Given the description of an element on the screen output the (x, y) to click on. 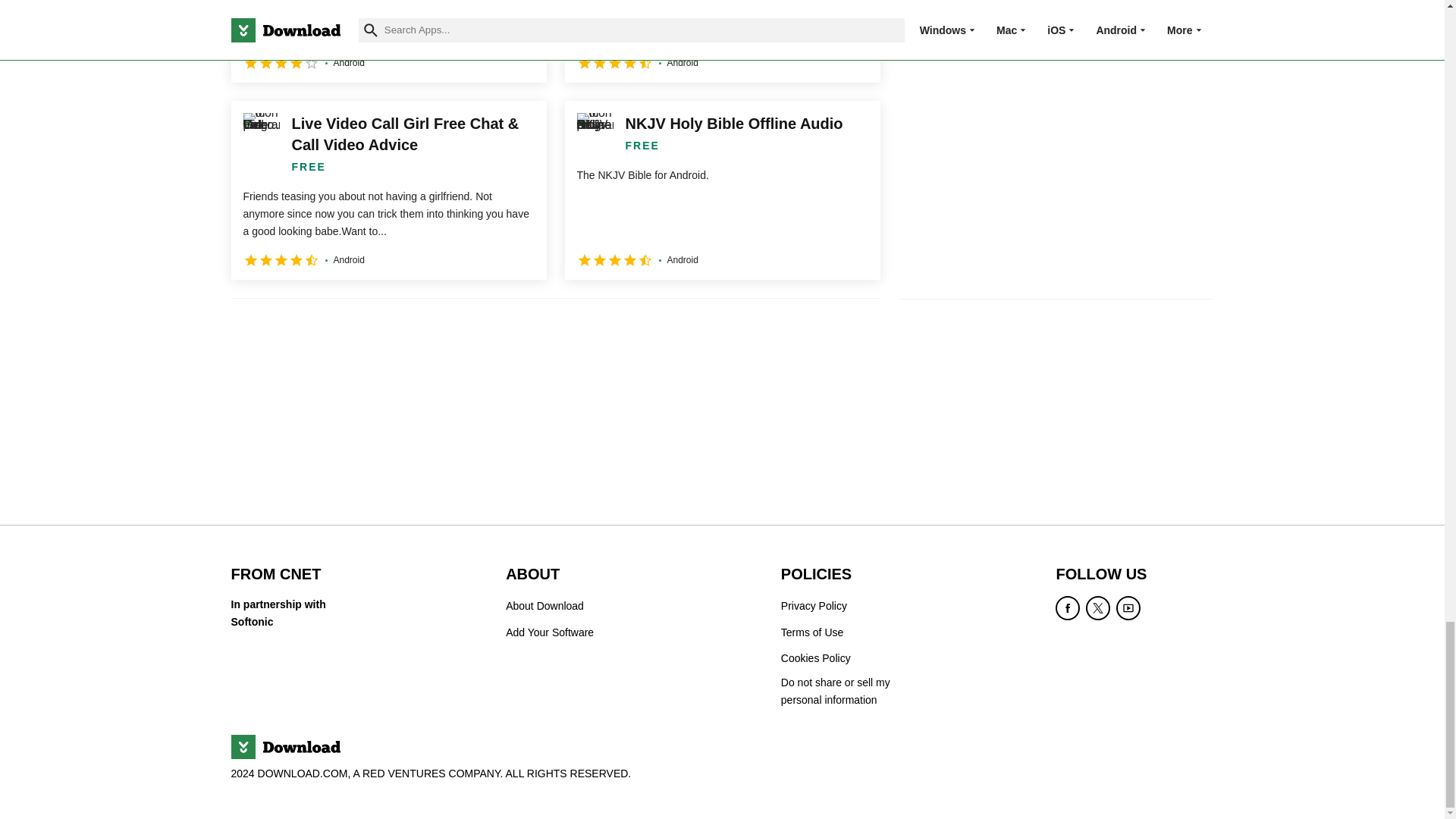
Duolingo Math (388, 40)
NKJV Holy Bible Offline Audio (721, 190)
Become a Facebook fan of Download.com (1067, 607)
Download.com (284, 746)
